Given the description of an element on the screen output the (x, y) to click on. 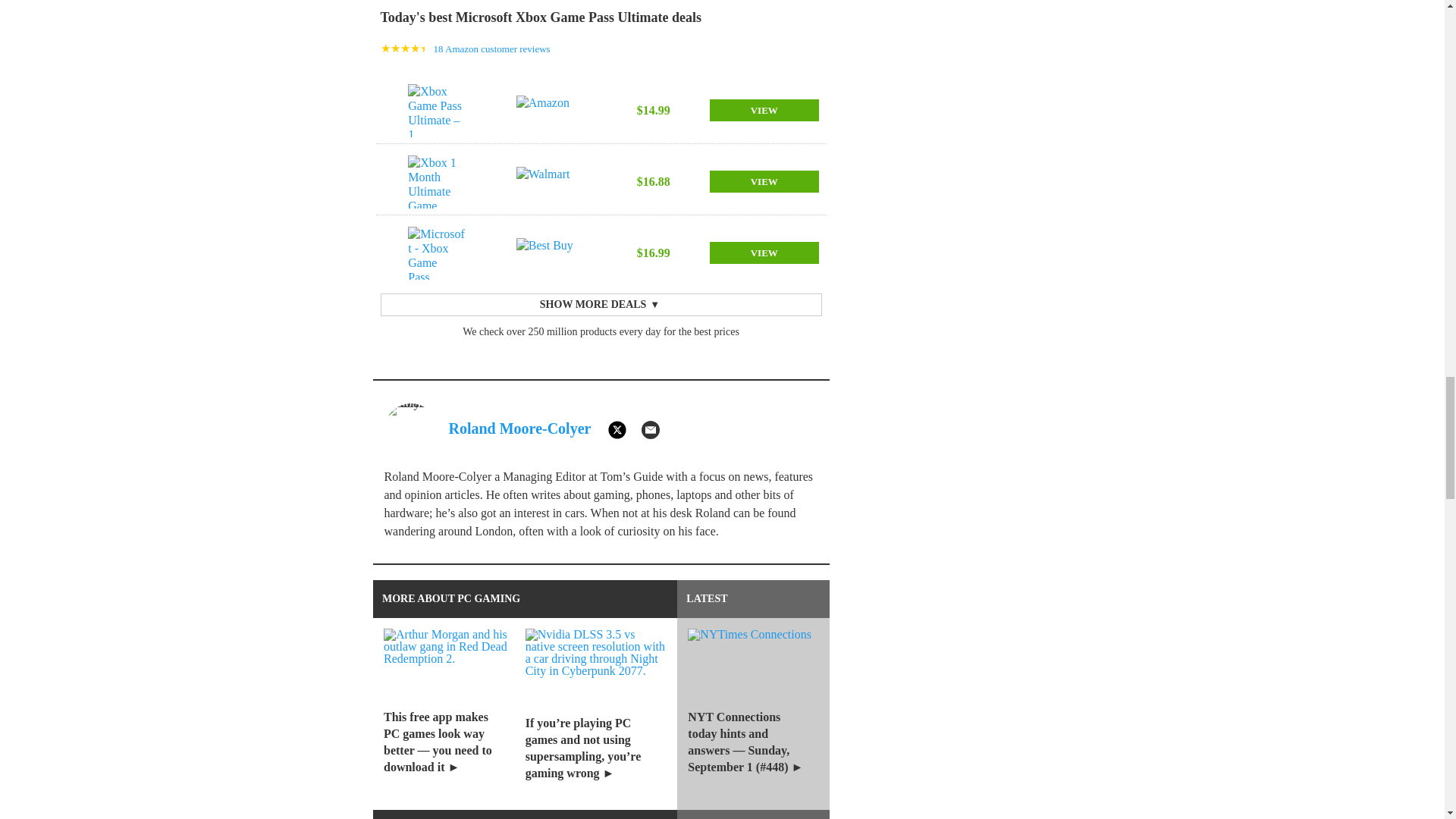
Walmart (546, 182)
Microsoft - Xbox Game Pass... (437, 253)
Best Buy (546, 253)
Xbox 1 Month Ultimate Game... (437, 181)
Amazon (546, 110)
